Given the description of an element on the screen output the (x, y) to click on. 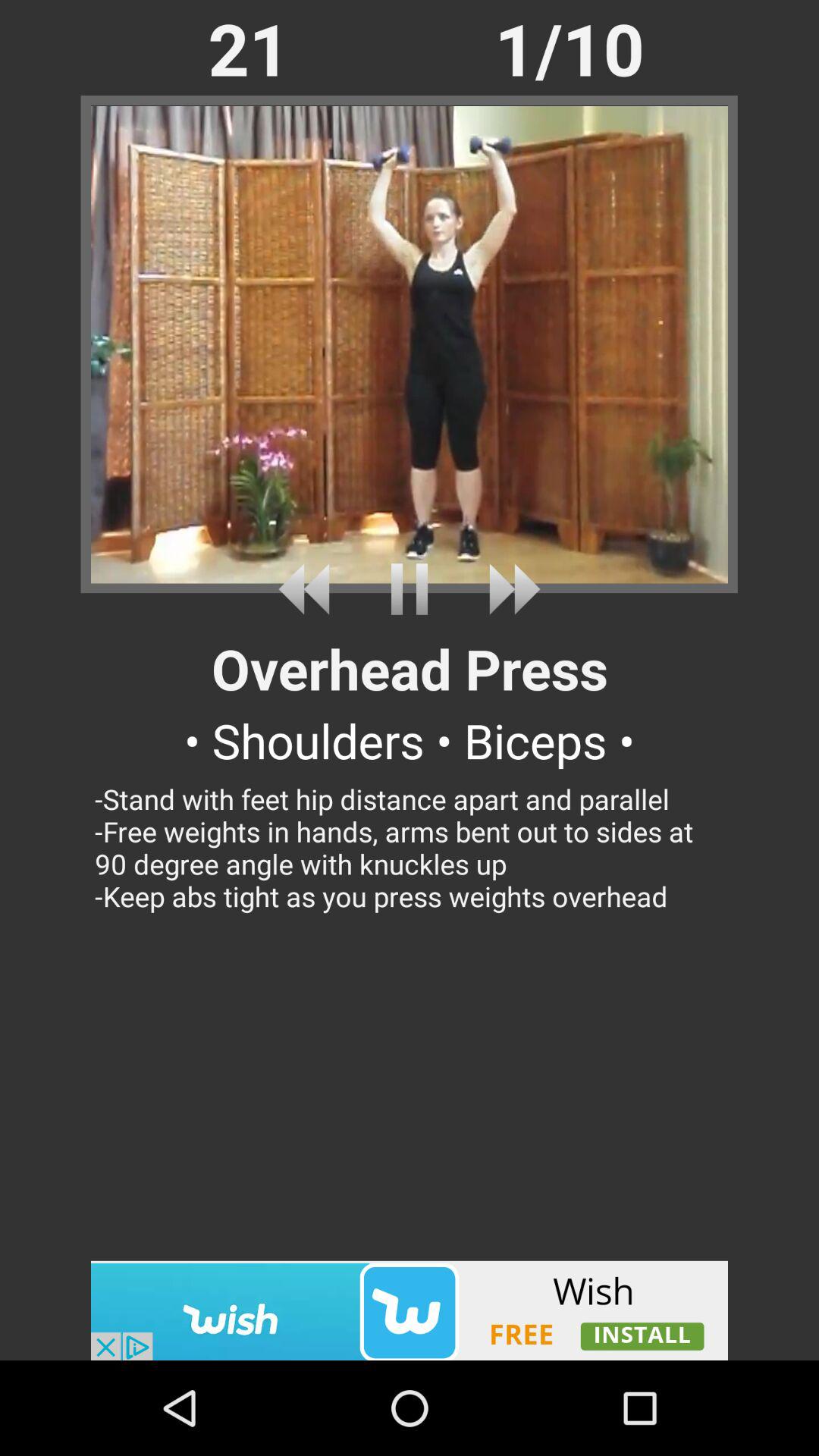
go to prvious (309, 589)
